Given the description of an element on the screen output the (x, y) to click on. 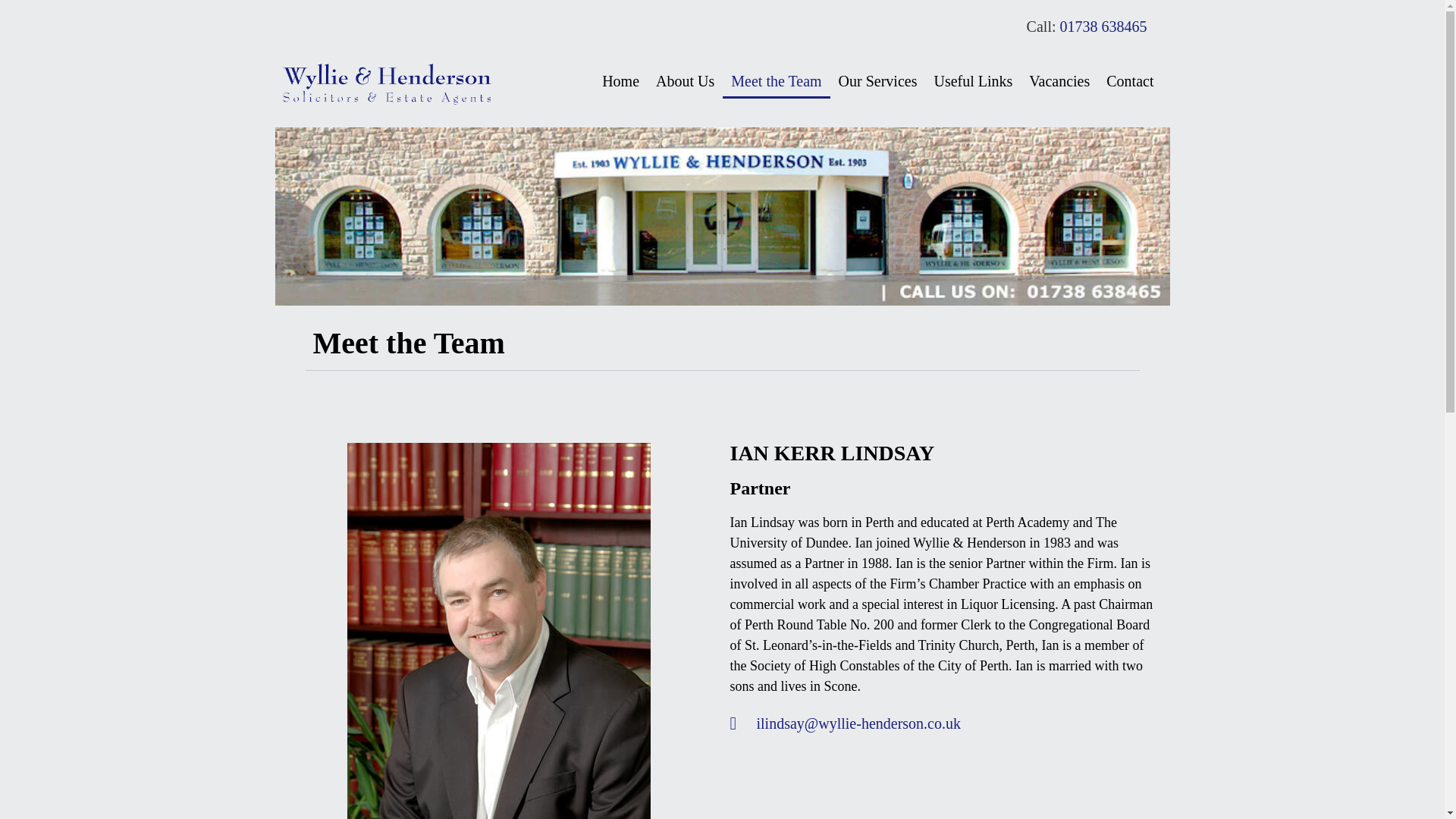
Our Services (877, 80)
Vacancies (1058, 80)
About Us (684, 80)
Useful Links (972, 80)
01738 638465 (1103, 26)
Contact (1129, 80)
Meet the Team (775, 80)
Home (620, 80)
